Given the description of an element on the screen output the (x, y) to click on. 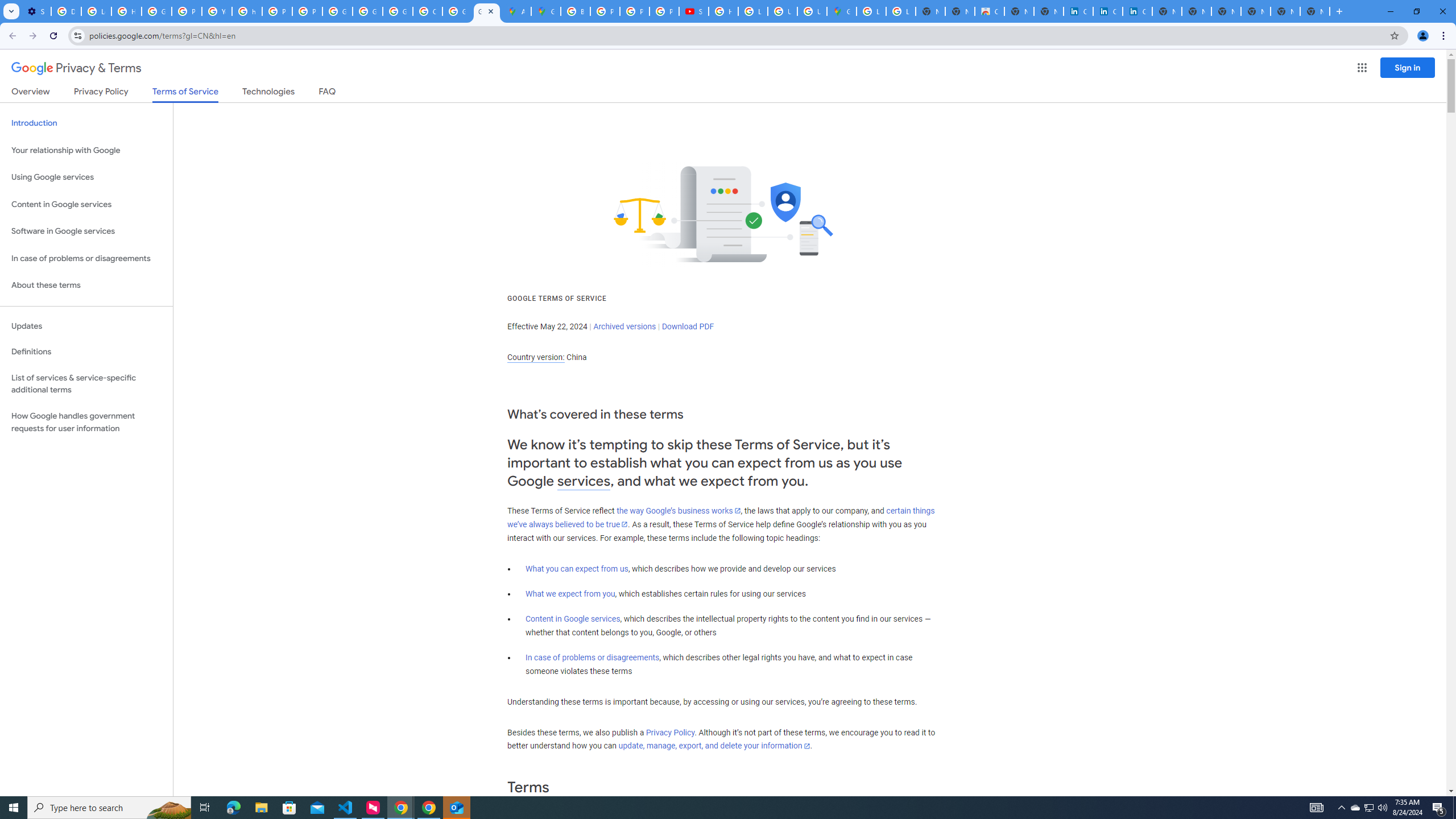
Create your Google Account (426, 11)
Privacy Help Center - Policies Help (277, 11)
Cookie Policy | LinkedIn (1077, 11)
What you can expect from us (576, 568)
Google Maps (841, 11)
New Tab (1255, 11)
List of services & service-specific additional terms (86, 383)
Download PDF (687, 326)
New Tab (1314, 11)
Content in Google services (572, 618)
